Given the description of an element on the screen output the (x, y) to click on. 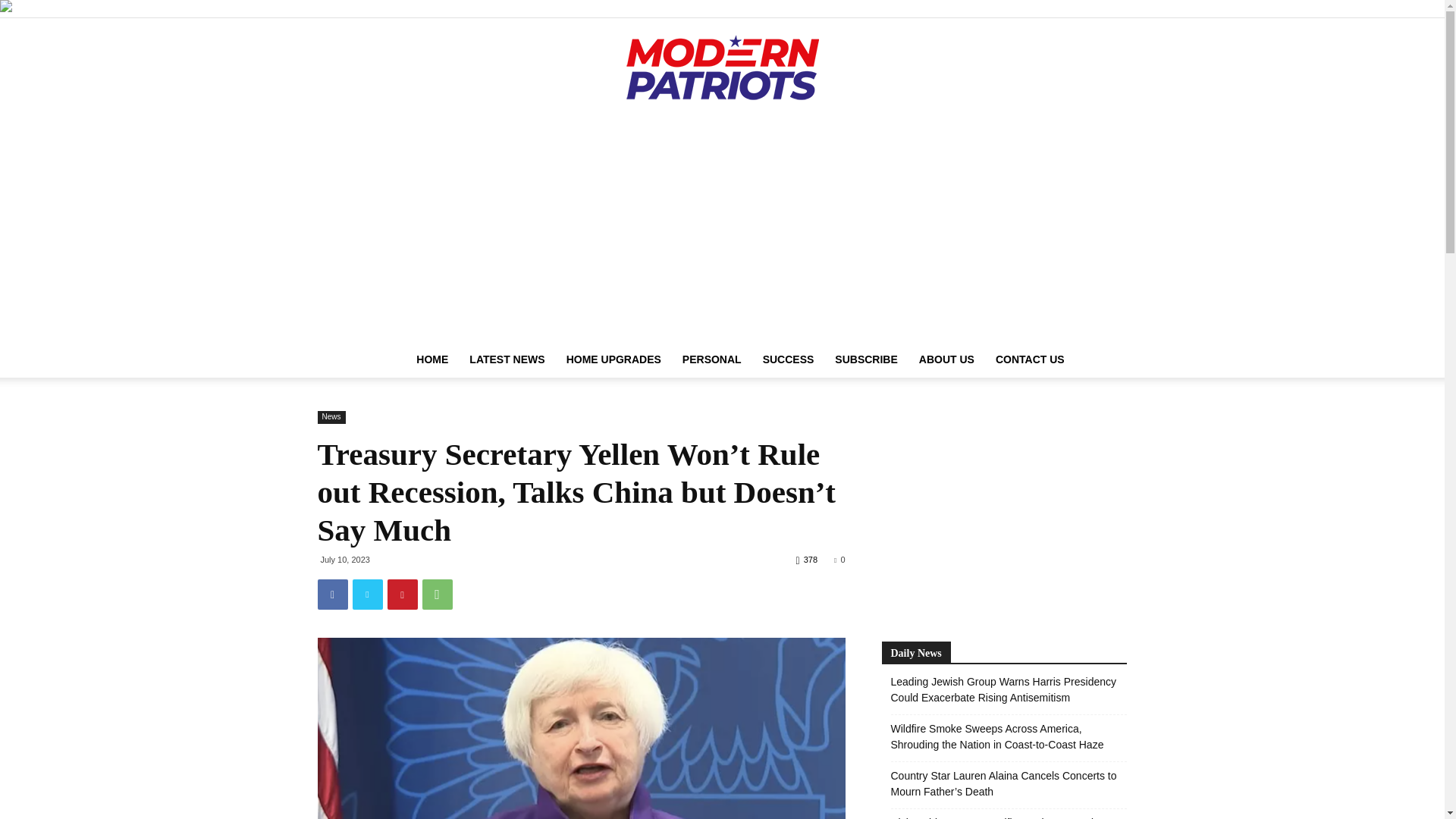
0710yellen (580, 728)
HOME (432, 359)
HOME UPGRADES (613, 359)
PERSONAL (711, 359)
0 (839, 559)
ABOUT US (946, 359)
SUCCESS (788, 359)
LATEST NEWS (506, 359)
SUBSCRIBE (865, 359)
News (331, 417)
Advertisement (1003, 511)
CONTACT US (1030, 359)
